Given the description of an element on the screen output the (x, y) to click on. 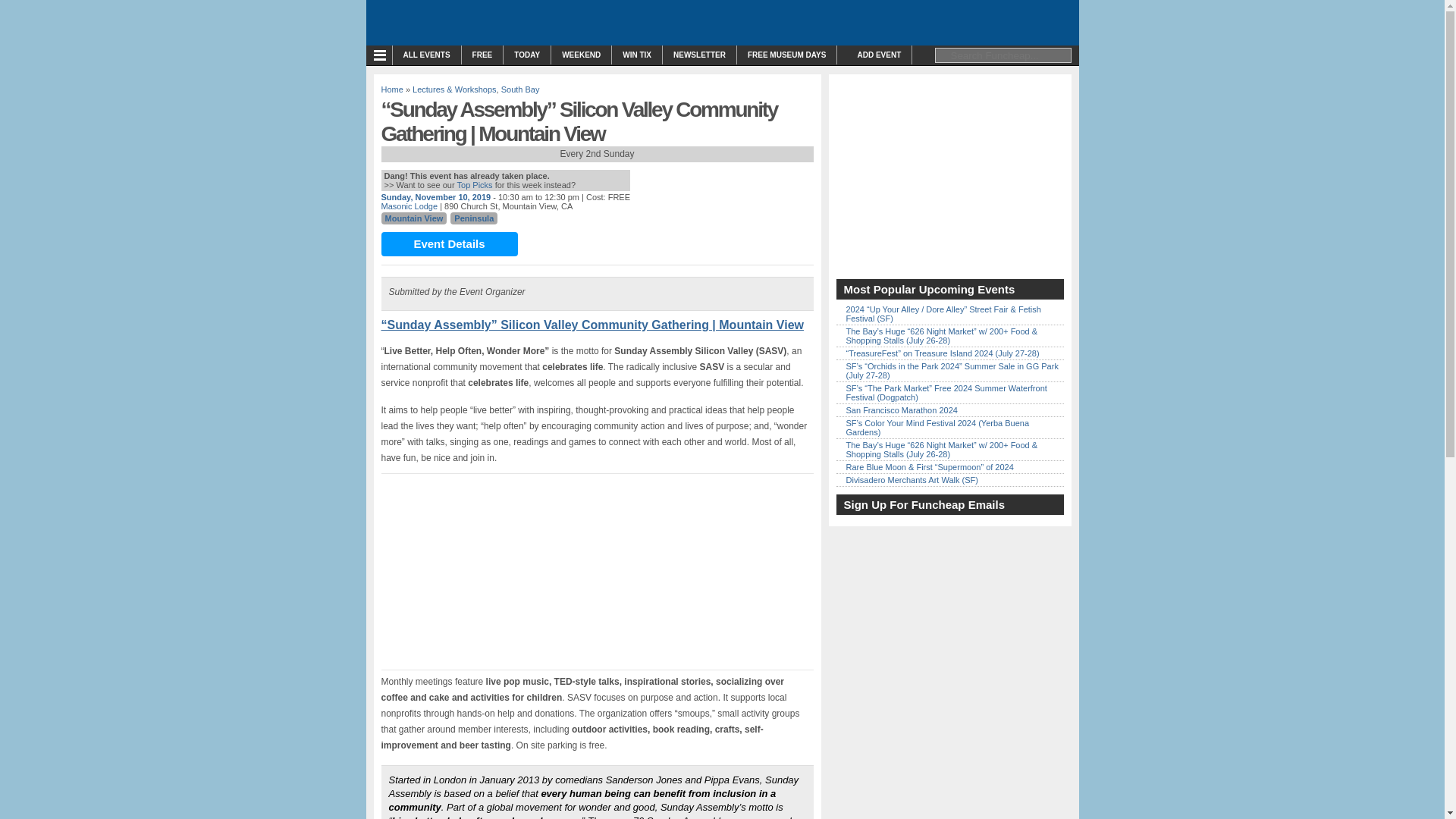
ALL EVENTS (427, 54)
NEWSLETTER (699, 54)
TODAY (526, 54)
FREE MUSEUM DAYS (786, 54)
Sub-Menu Toggle (381, 55)
San Francisco Marathon 2024 (901, 409)
ADD EVENT (874, 54)
WIN TIX (636, 54)
WEEKEND (581, 54)
Home (391, 89)
MENU (381, 55)
FREE (482, 54)
